Given the description of an element on the screen output the (x, y) to click on. 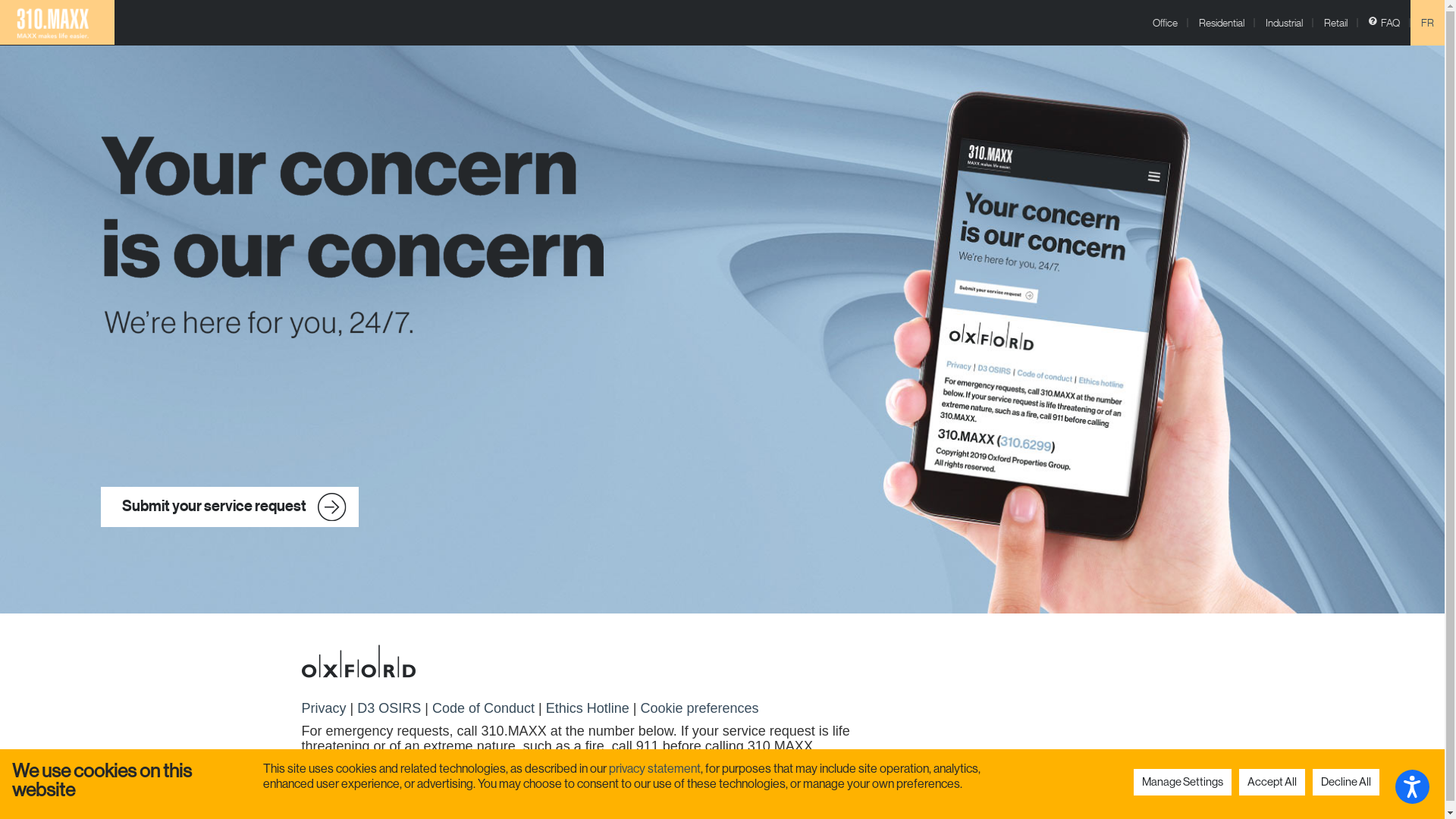
FR Element type: text (1427, 22)
Code of Conduct Element type: text (485, 707)
privacy statement Element type: text (654, 768)
Accept All Element type: text (1272, 781)
Submit your service request Element type: text (229, 506)
Privacy Element type: text (325, 707)
Office Element type: text (1165, 22)
Retail Element type: text (1335, 22)
D3 OSIRS Element type: text (390, 707)
FAQ Element type: text (1384, 22)
Manage Settings Element type: text (1182, 781)
Industrial Element type: text (1284, 22)
Ethics Hotline Element type: text (589, 707)
Cookie preferences Element type: text (699, 707)
Decline All Element type: text (1345, 781)
Residential Element type: text (1221, 22)
